Given the description of an element on the screen output the (x, y) to click on. 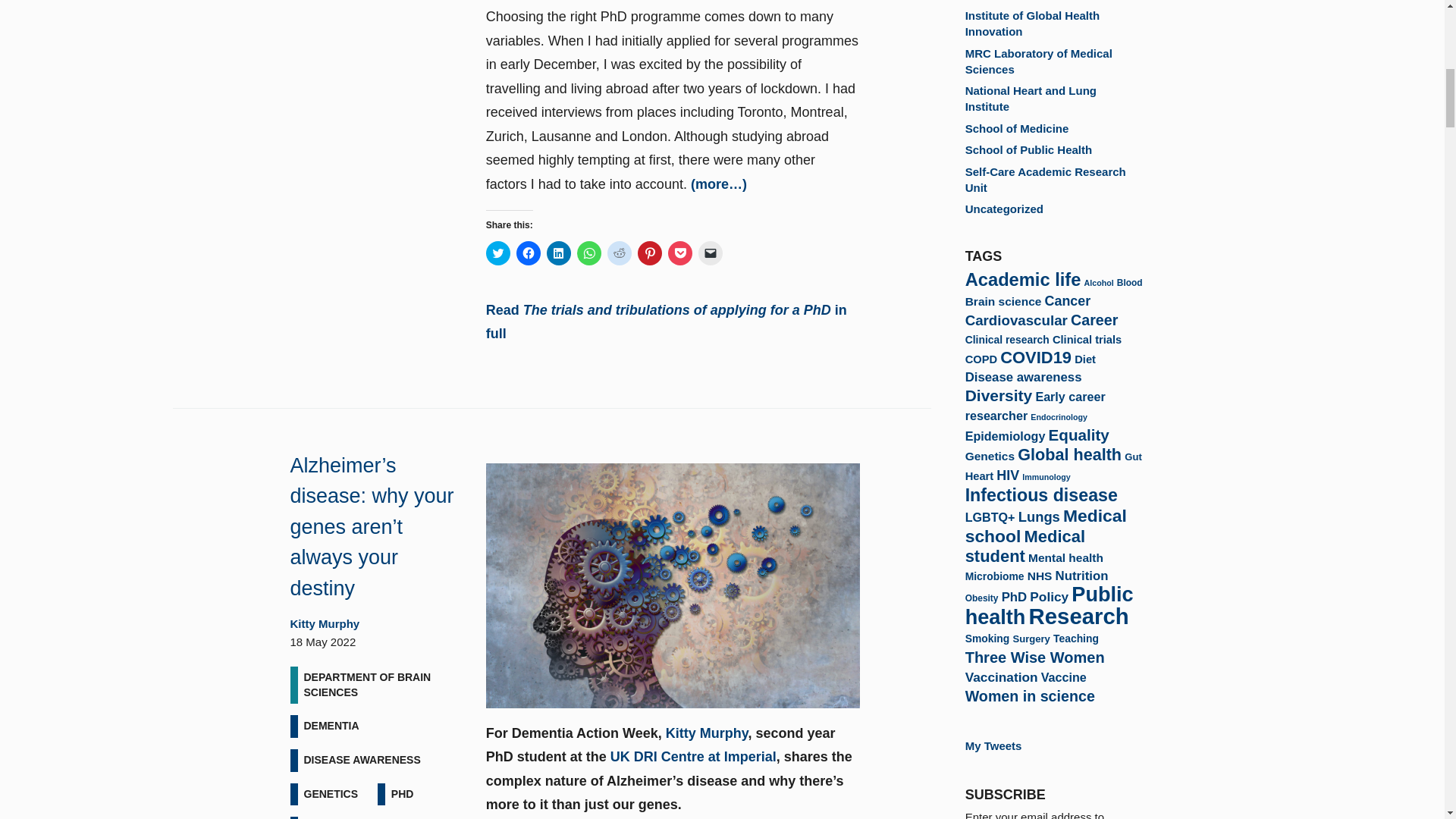
Click to share on Twitter (498, 252)
Kitty Murphy (324, 623)
Kitty Murphy (706, 733)
View all posts in Department of Brain Sciences (376, 684)
DEPARTMENT OF BRAIN SCIENCES (376, 684)
Click to share on Pocket (680, 252)
Click to share on Reddit (619, 252)
PHD (402, 793)
Click to email a link to a friend (710, 252)
Click to share on Pinterest (649, 252)
Click to share on WhatsApp (588, 252)
UK DRI Centre at Imperial (693, 756)
RESEARCH (333, 817)
GENETICS (330, 793)
